Given the description of an element on the screen output the (x, y) to click on. 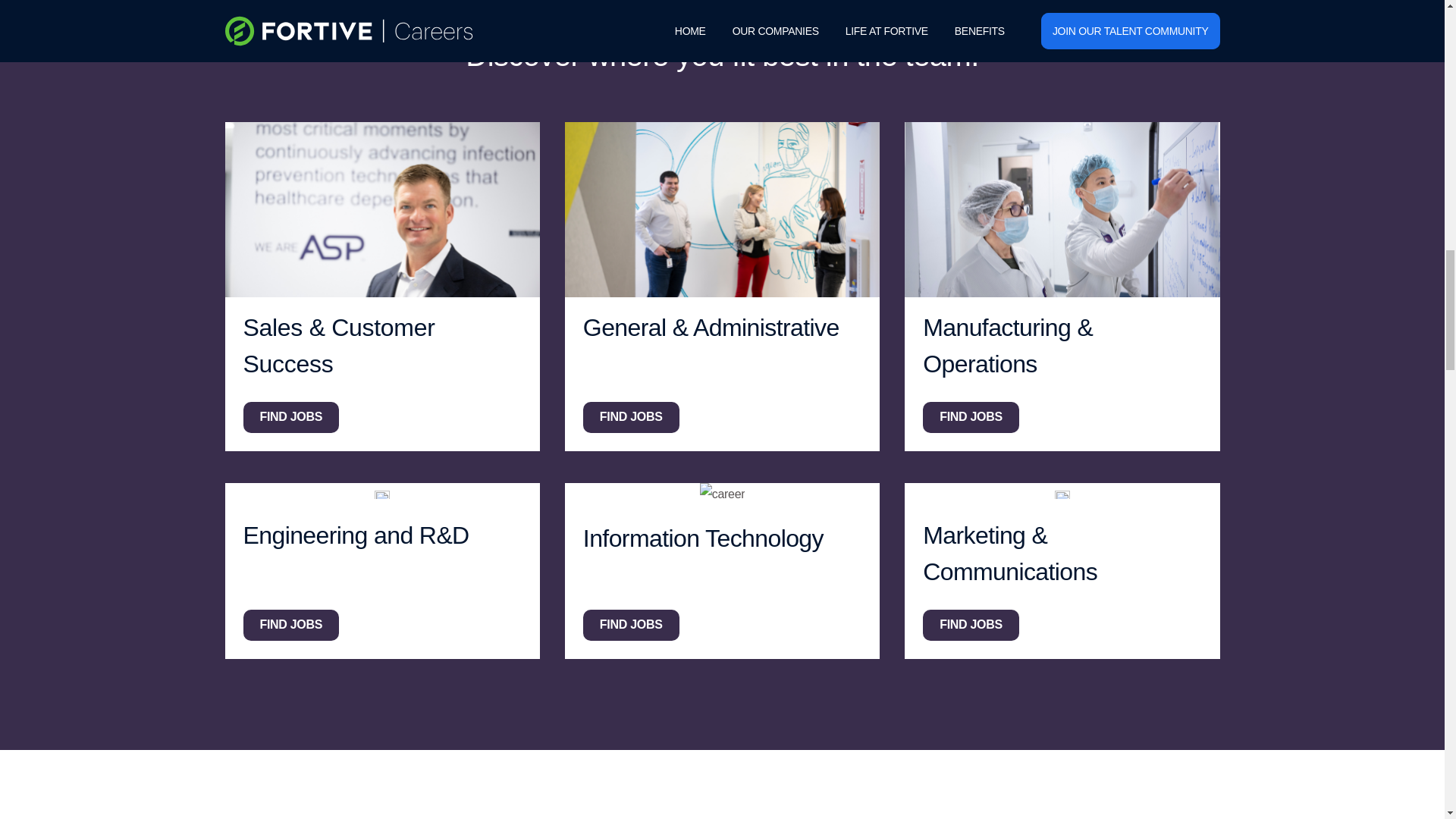
FIND JOBS (631, 417)
FIND JOBS (291, 624)
FIND JOBS (291, 417)
FIND JOBS (631, 624)
FIND JOBS (971, 417)
